Given the description of an element on the screen output the (x, y) to click on. 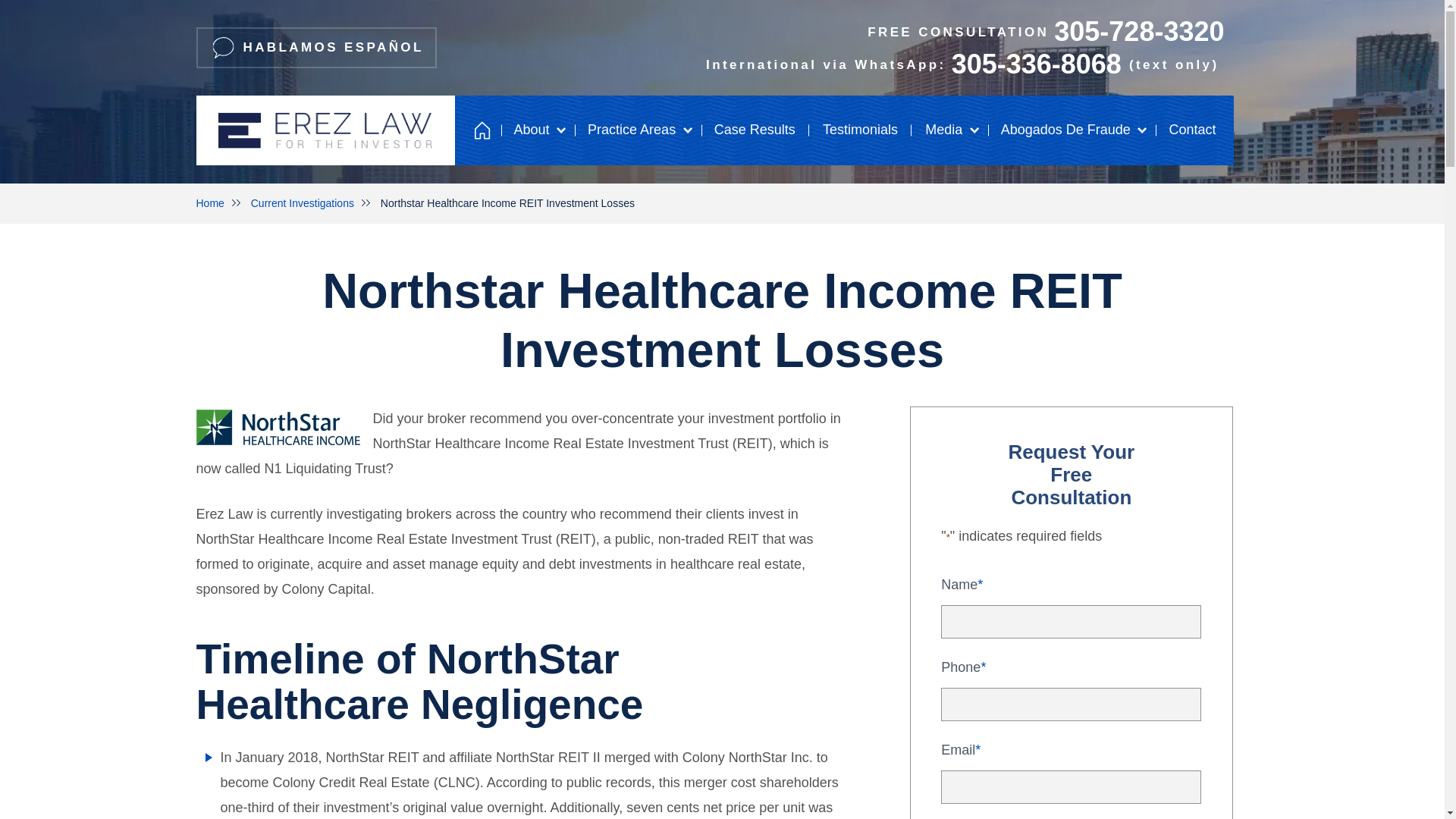
305-336-8068 (844, 31)
Practice Areas (1036, 63)
